Given the description of an element on the screen output the (x, y) to click on. 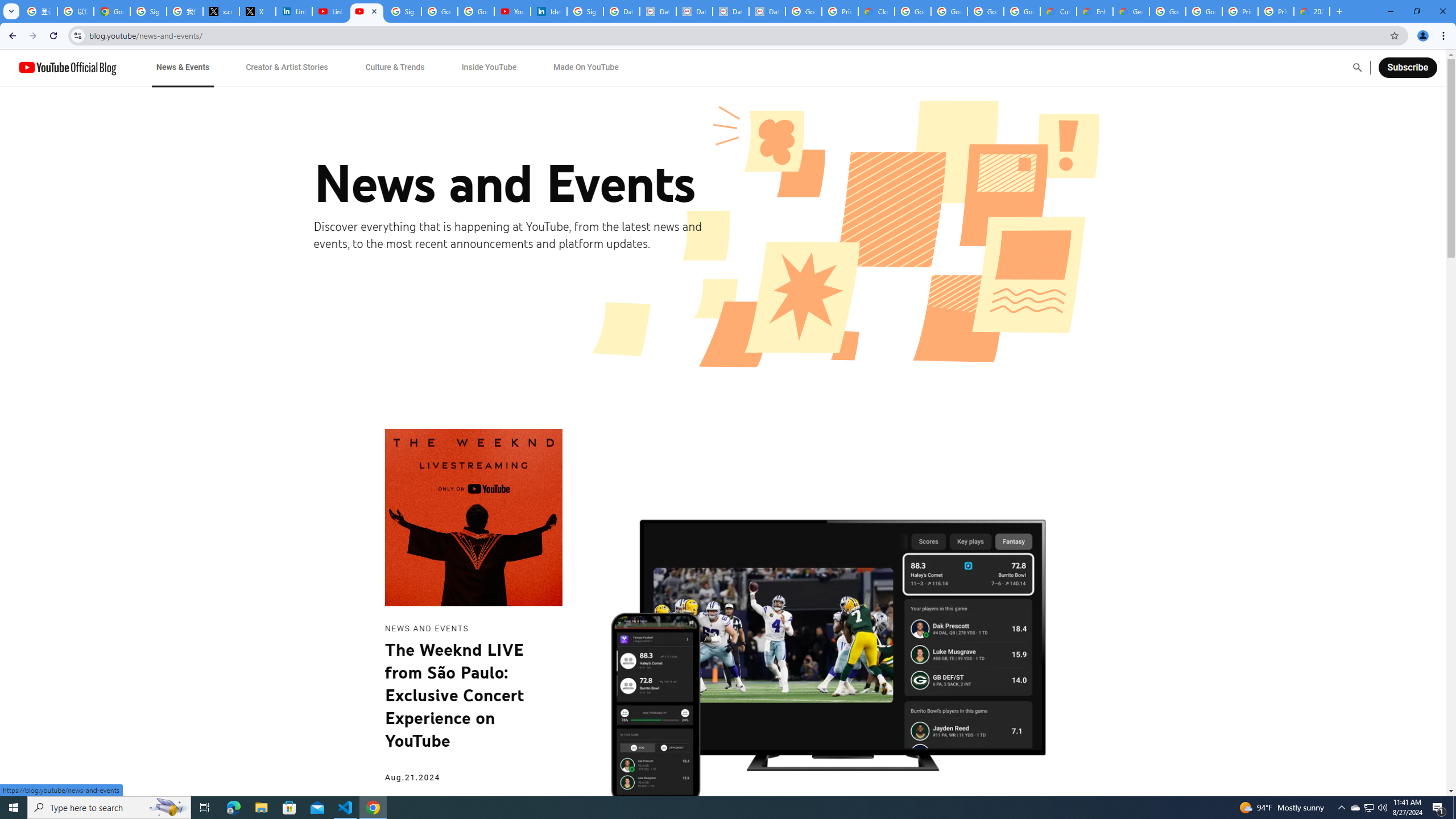
Google Workspace - Specific Terms (1021, 11)
LinkedIn Privacy Policy (293, 11)
Data Privacy Framework (657, 11)
YouTube Official Blog logo (67, 67)
Enhanced Support | Google Cloud (1094, 11)
